Given the description of an element on the screen output the (x, y) to click on. 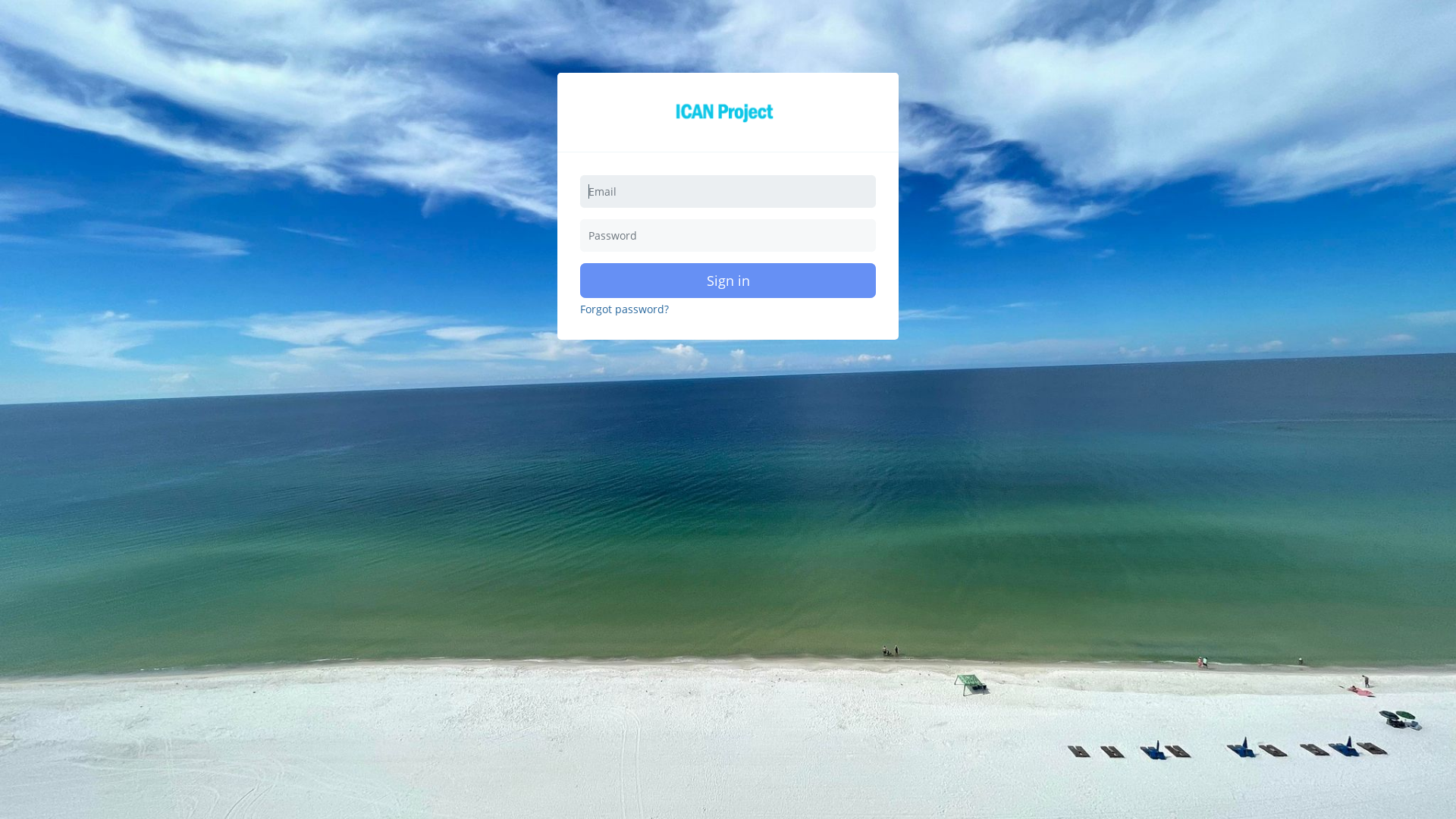
Sign in Element type: text (727, 280)
Forgot password? Element type: text (624, 309)
